Given the description of an element on the screen output the (x, y) to click on. 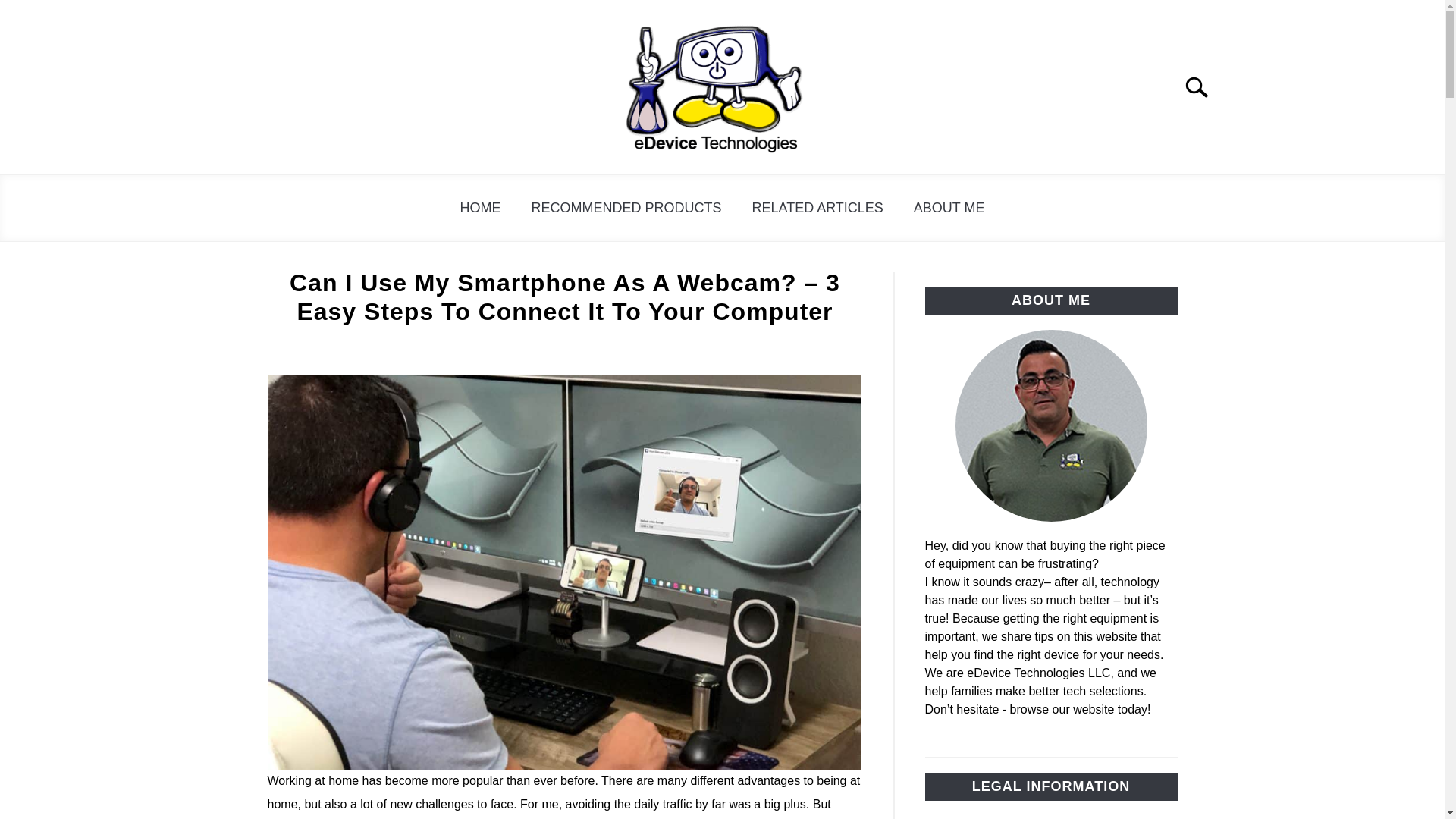
RELATED ARTICLES (817, 208)
ABOUT ME (949, 208)
RECOMMENDED PRODUCTS (625, 208)
Search (1203, 86)
HOME (479, 208)
